Given the description of an element on the screen output the (x, y) to click on. 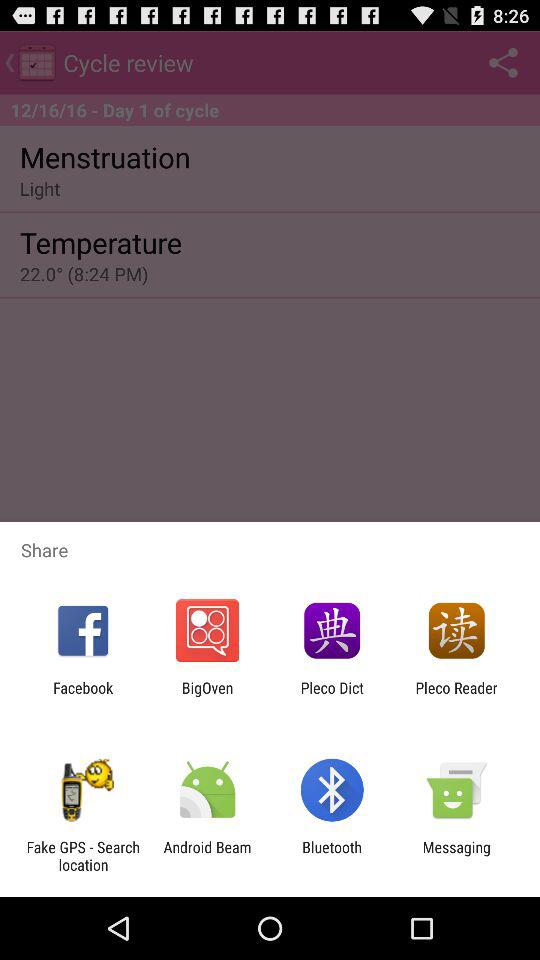
tap item to the left of the android beam (83, 856)
